Given the description of an element on the screen output the (x, y) to click on. 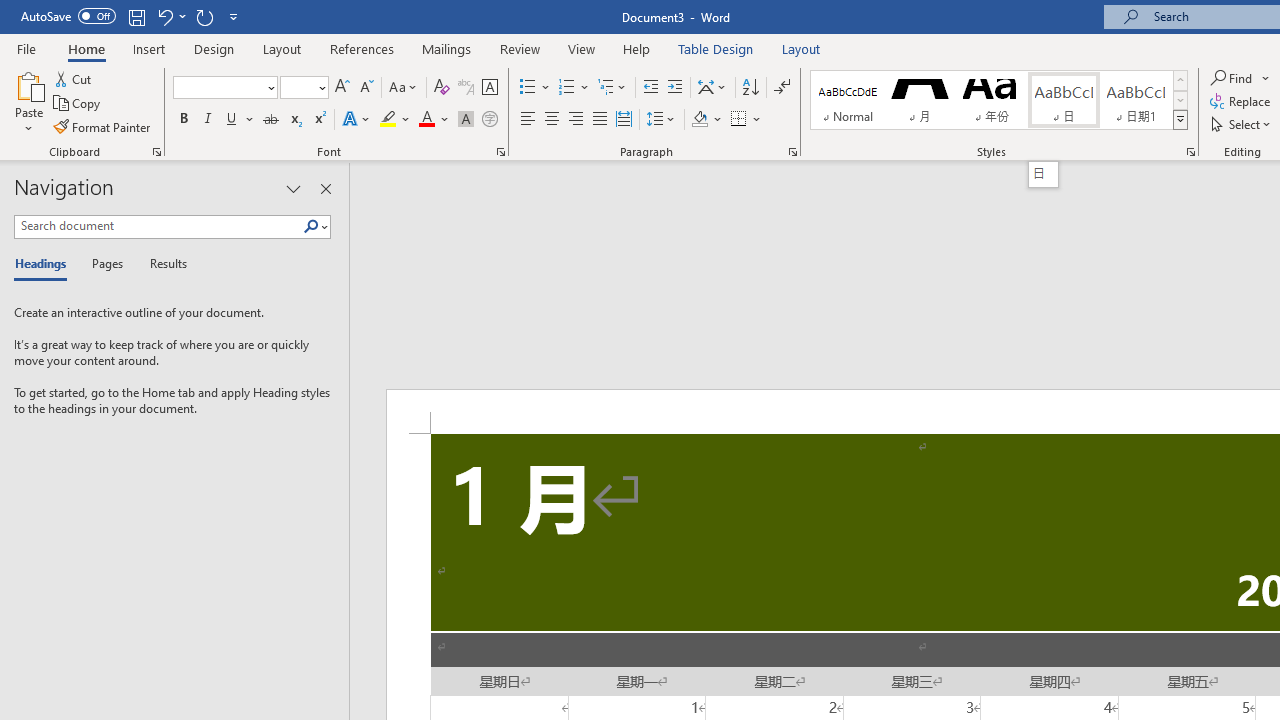
Close pane (325, 188)
Font Size (304, 87)
Text Highlight Color Yellow (388, 119)
Bullets (527, 87)
Headings (45, 264)
Undo Text Fill Effect (170, 15)
Underline (232, 119)
Paste (28, 102)
Insert (149, 48)
Font Color RGB(255, 0, 0) (426, 119)
Find (1233, 78)
Layout (801, 48)
Review (520, 48)
